Given the description of an element on the screen output the (x, y) to click on. 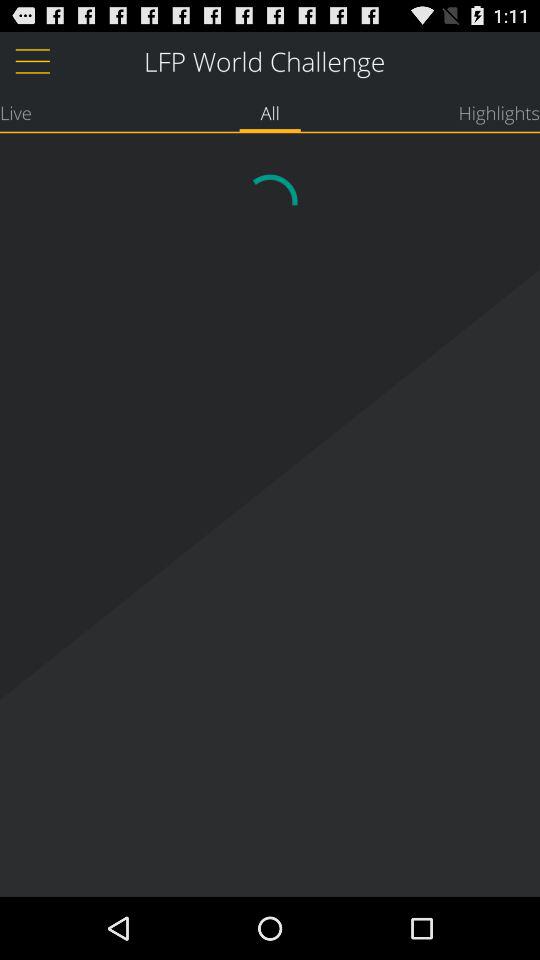
open live icon (15, 112)
